Given the description of an element on the screen output the (x, y) to click on. 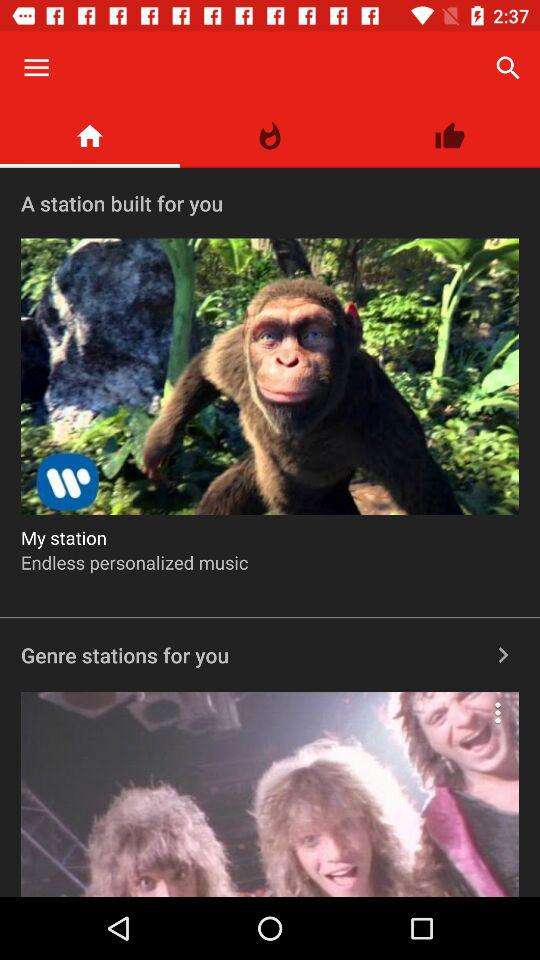
turn on the icon above a station built item (450, 136)
